Given the description of an element on the screen output the (x, y) to click on. 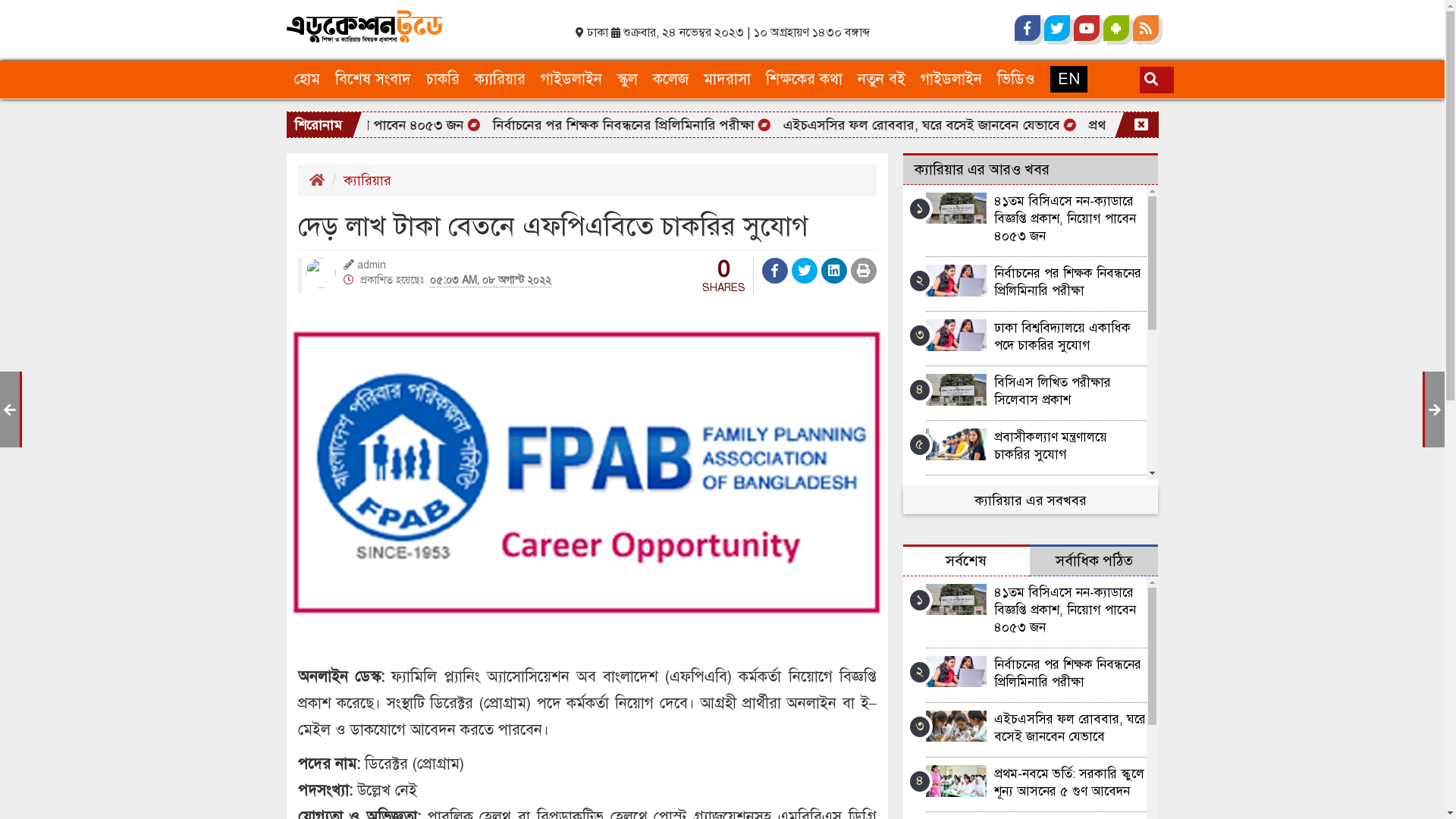
Click to close Element type: hover (1140, 125)
Android Element type: hover (1115, 28)
Twitter Element type: hover (1056, 28)
admin Element type: text (370, 264)
EN Element type: text (1067, 79)
Youtube Element type: hover (1086, 28)
RSS Element type: hover (1145, 28)
Facebook Element type: hover (1027, 28)
Instagram Element type: hover (1170, 27)
